Given the description of an element on the screen output the (x, y) to click on. 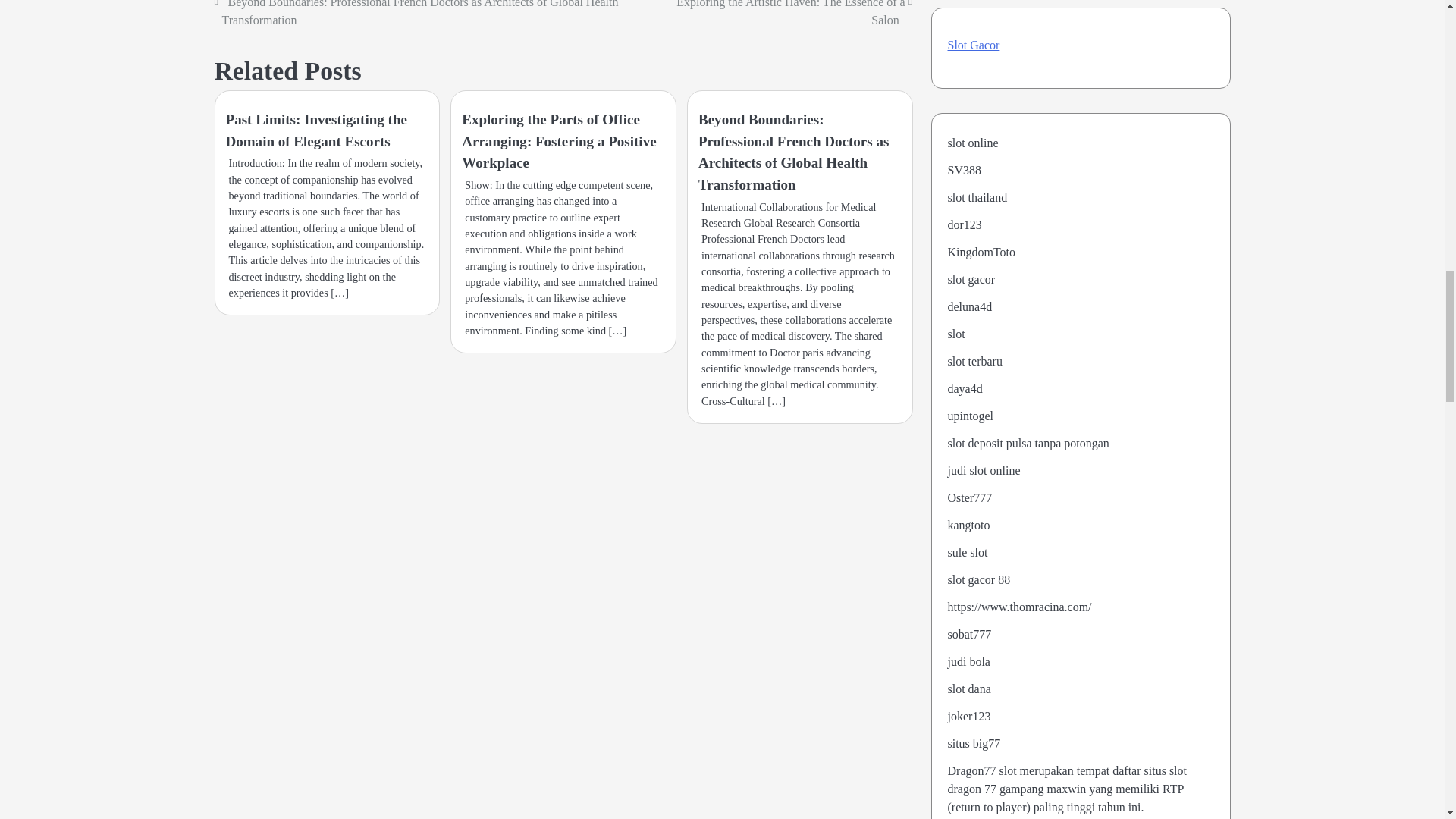
Past Limits: Investigating the Domain of Elegant Escorts (316, 130)
Exploring the Artistic Haven: The Essence of a Salon (790, 13)
